Given the description of an element on the screen output the (x, y) to click on. 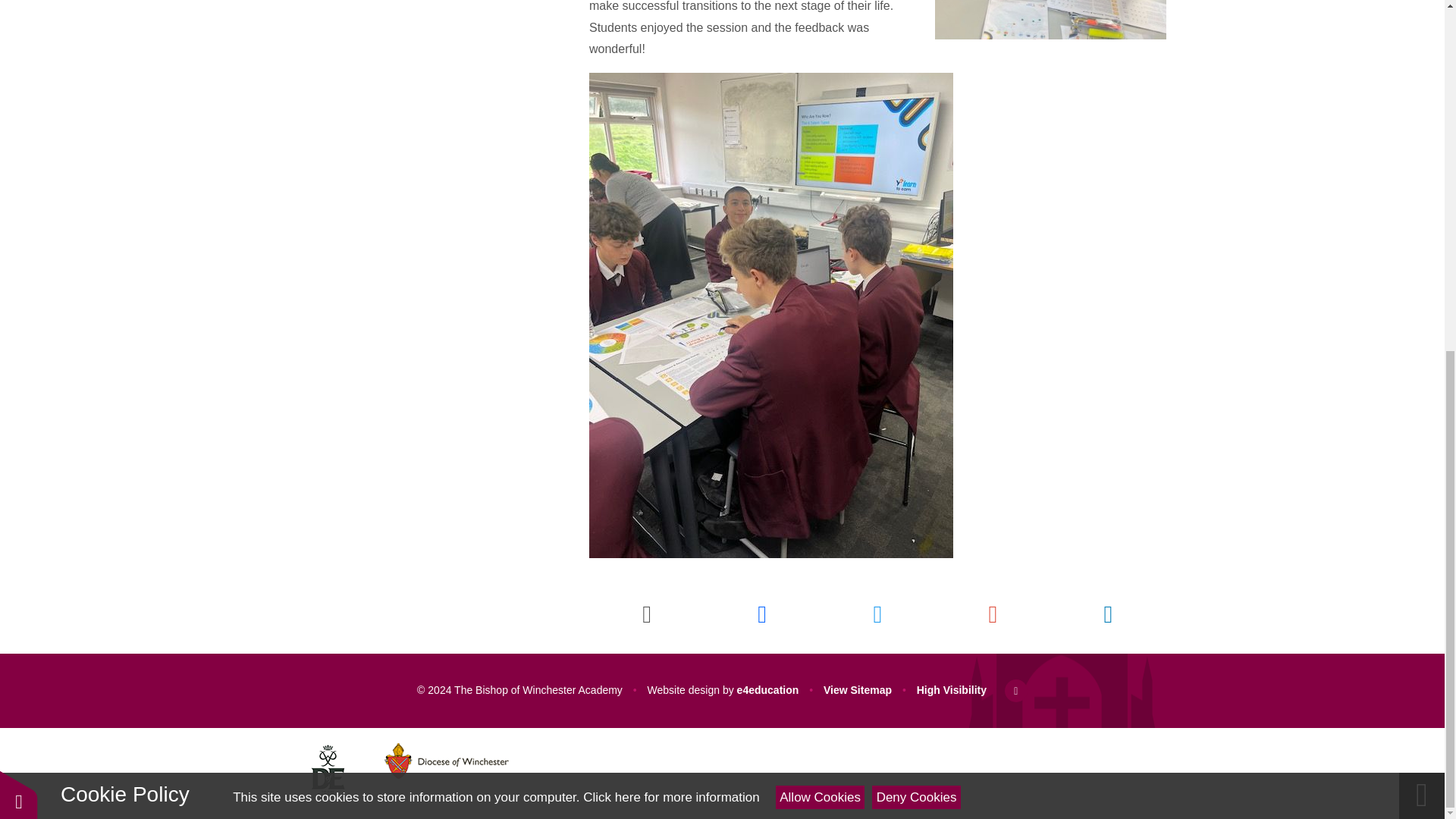
See cookie policy (670, 187)
Cookie Settings (18, 184)
e4education (767, 689)
Deny Cookies (915, 187)
Allow Cookies (820, 187)
